Given the description of an element on the screen output the (x, y) to click on. 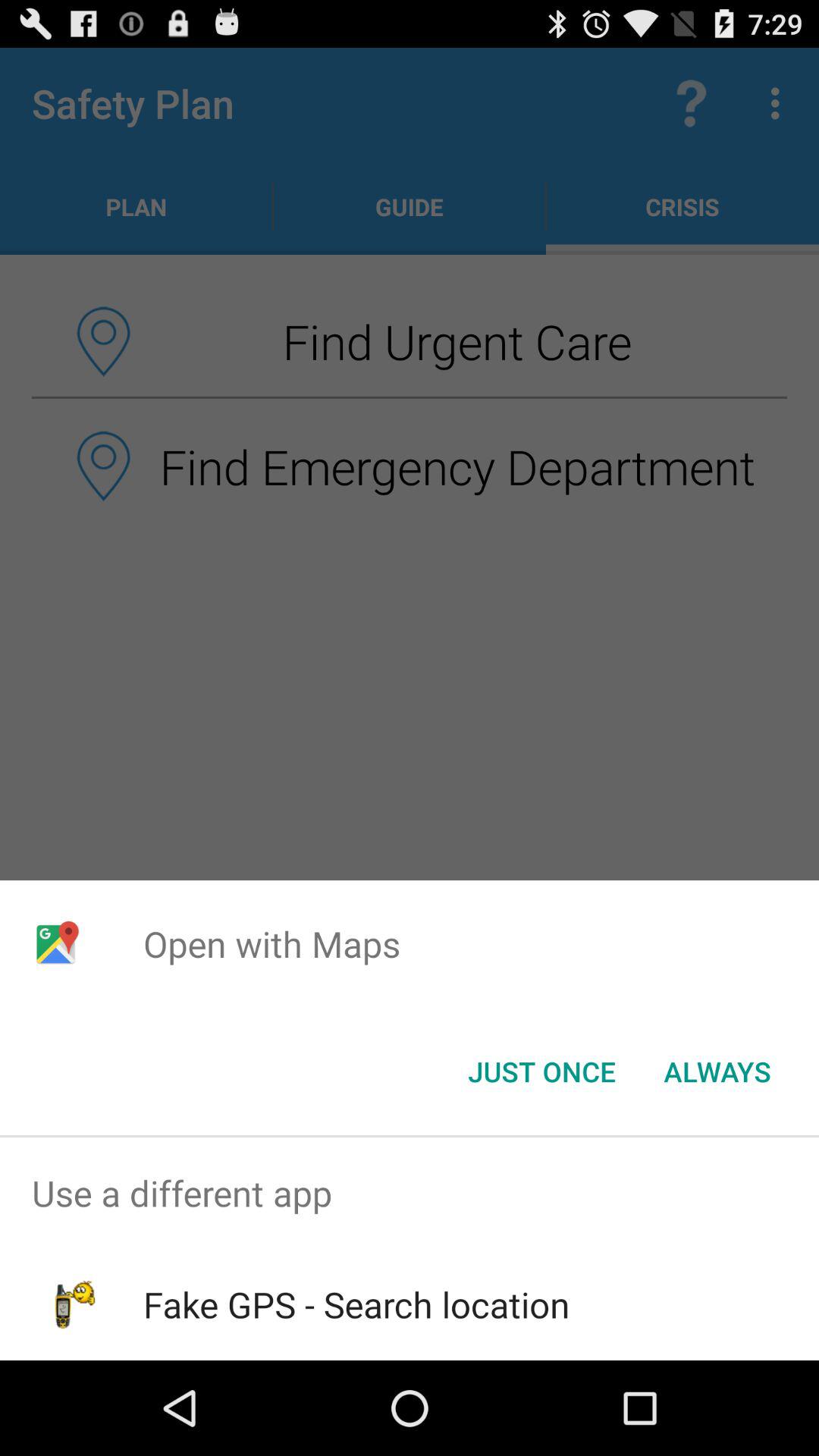
select icon above fake gps search icon (409, 1192)
